Given the description of an element on the screen output the (x, y) to click on. 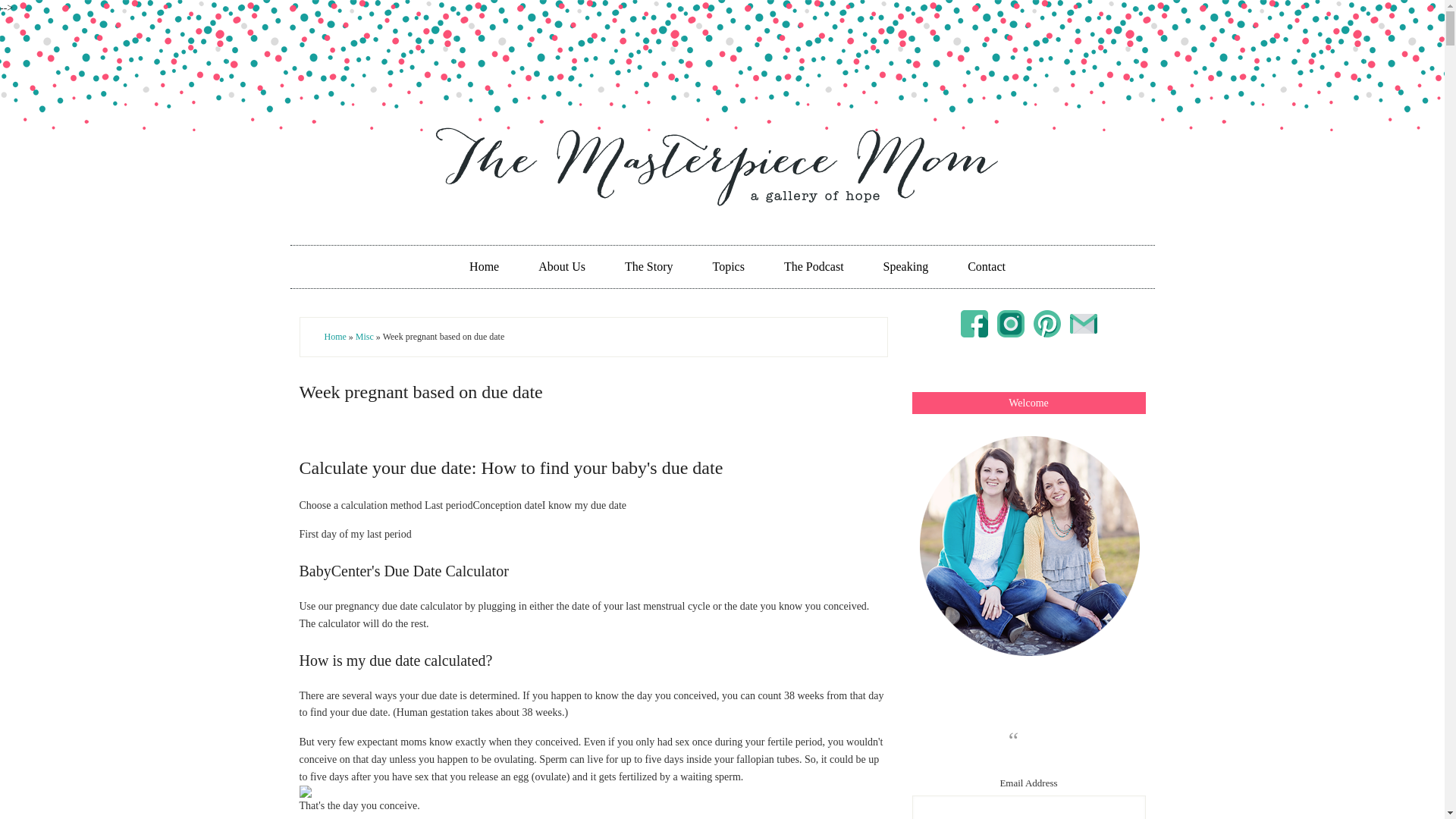
Speaking (905, 266)
Topics (728, 266)
About Us (561, 266)
Home (483, 266)
Misc (364, 336)
The Podcast (813, 266)
Misc (364, 336)
Contact (986, 266)
Home (335, 336)
The Story (649, 266)
Topics (986, 266)
